Given the description of an element on the screen output the (x, y) to click on. 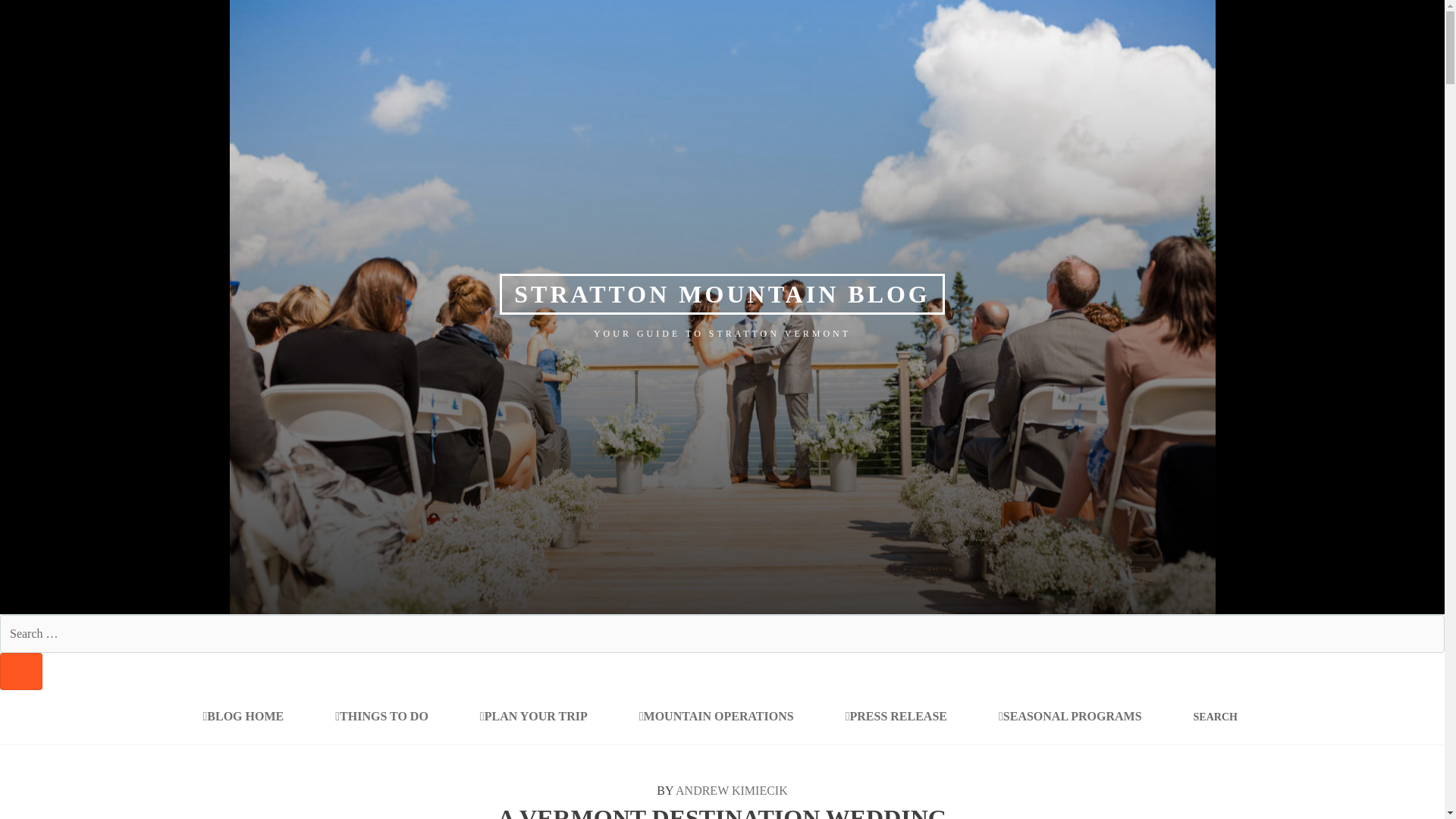
PLAN YOUR TRIP (533, 716)
ANDREW KIMIECIK (731, 789)
BLOG HOME (242, 716)
MOUNTAIN OPERATIONS (716, 716)
PRESS RELEASE (896, 716)
STRATTON MOUNTAIN BLOG (721, 293)
THINGS TO DO (381, 716)
SEASONAL PROGRAMS (1070, 716)
SEARCH (21, 671)
